Given the description of an element on the screen output the (x, y) to click on. 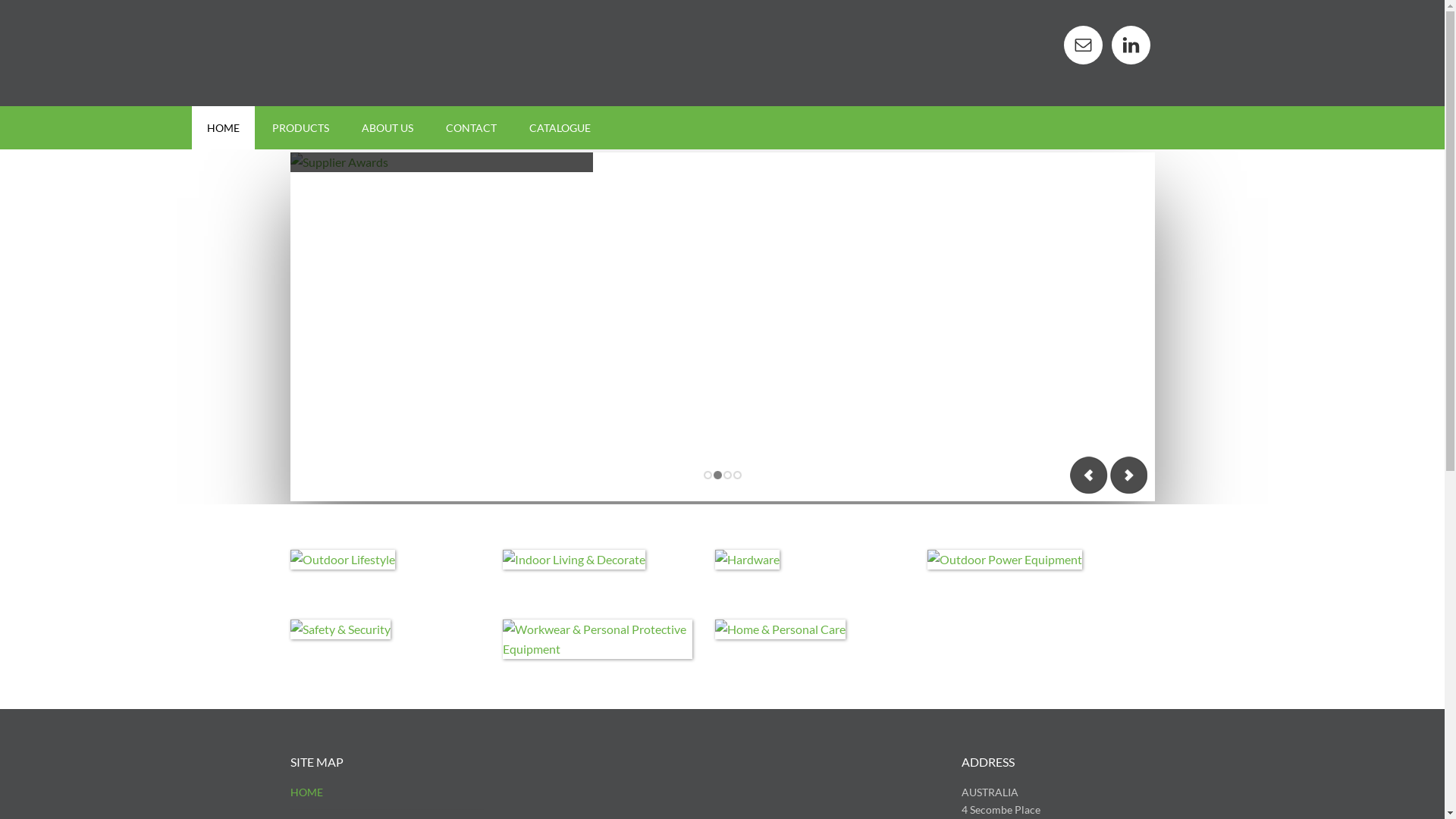
3 Element type: text (726, 475)
CONTACT Element type: text (470, 127)
Previous Element type: text (1088, 474)
HOME Element type: text (222, 127)
CATALOGUE Element type: text (559, 127)
PRODUCTS Element type: text (299, 127)
2 Element type: text (717, 475)
1 Element type: text (707, 475)
MAYO HARDWARE Element type: text (418, 53)
HOME Element type: text (305, 791)
ABOUT US Element type: text (386, 127)
4 Element type: text (737, 475)
Next Element type: text (1127, 474)
